Given the description of an element on the screen output the (x, y) to click on. 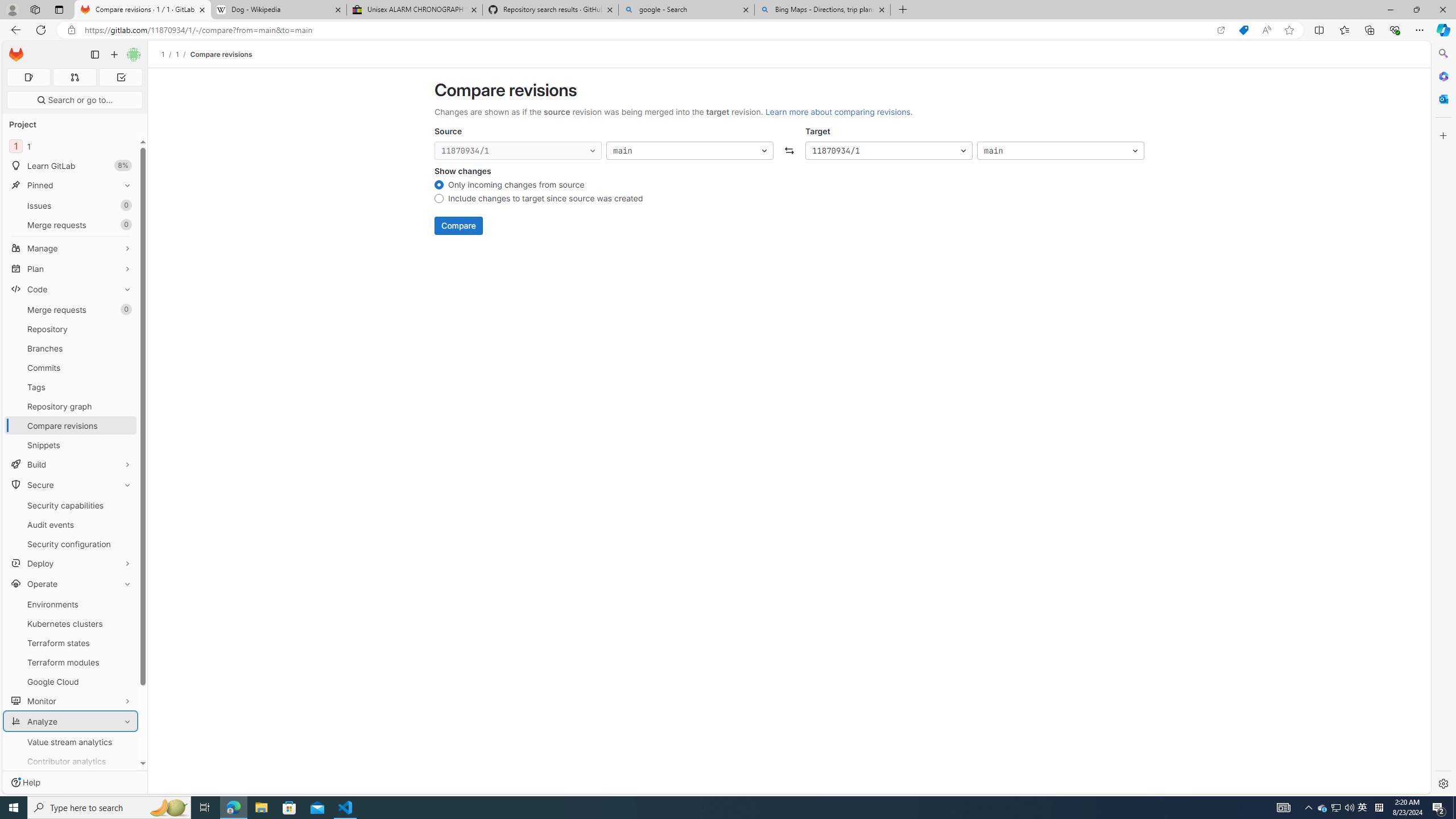
Pin Terraform states (124, 642)
Build (70, 464)
Terraform states (70, 642)
Pin Value stream analytics (124, 741)
Plan (70, 268)
Outlook (1442, 98)
Kubernetes clusters (70, 623)
Repository graph (70, 406)
Snippets (70, 444)
Audit events (70, 524)
Learn GitLab 8% (70, 165)
Repository analytics (70, 799)
Terraform states (70, 642)
